Given the description of an element on the screen output the (x, y) to click on. 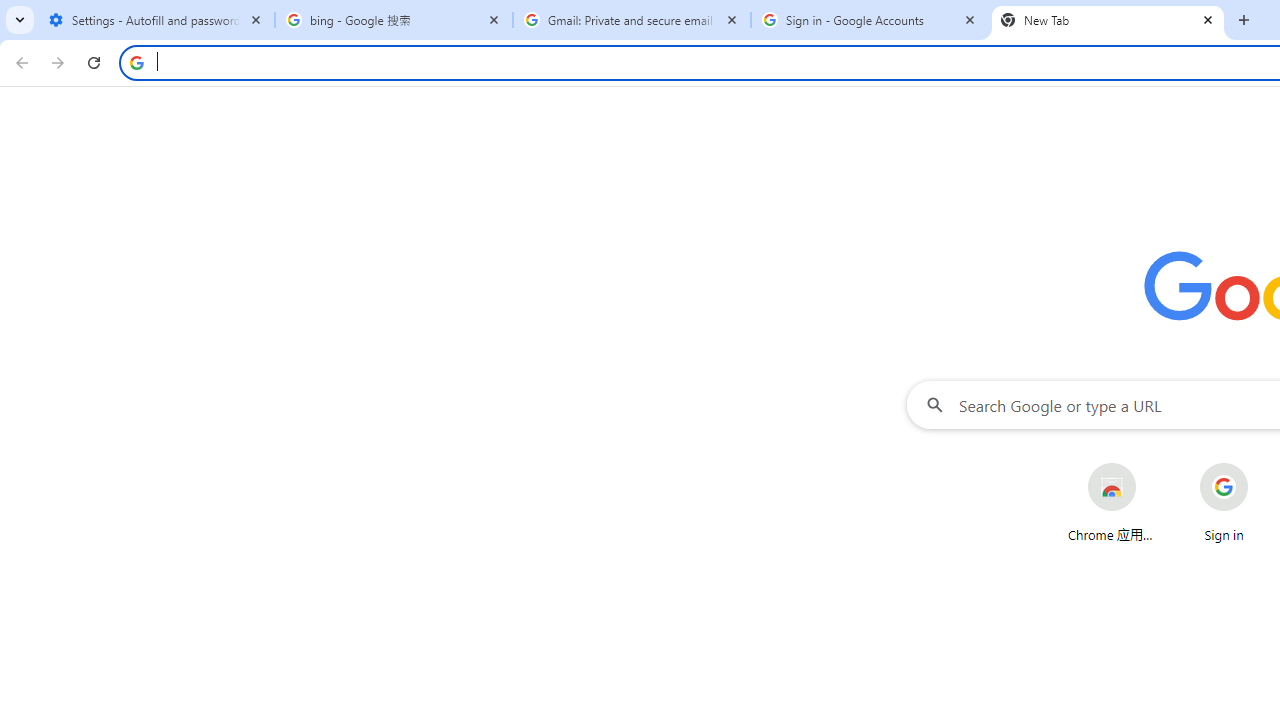
Settings - Autofill and passwords (156, 20)
